Given the description of an element on the screen output the (x, y) to click on. 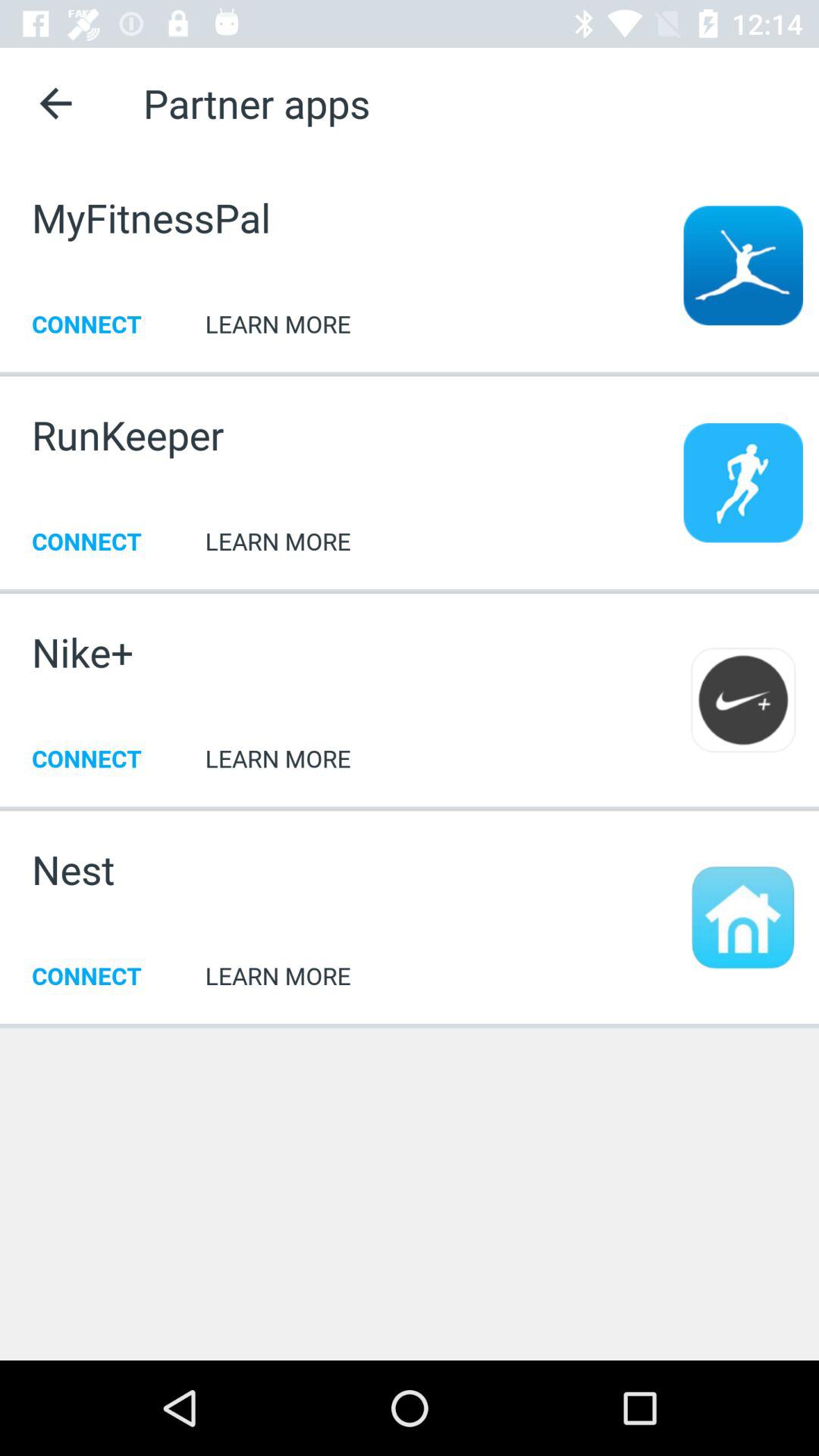
open the icon above the nike+ icon (409, 590)
